Given the description of an element on the screen output the (x, y) to click on. 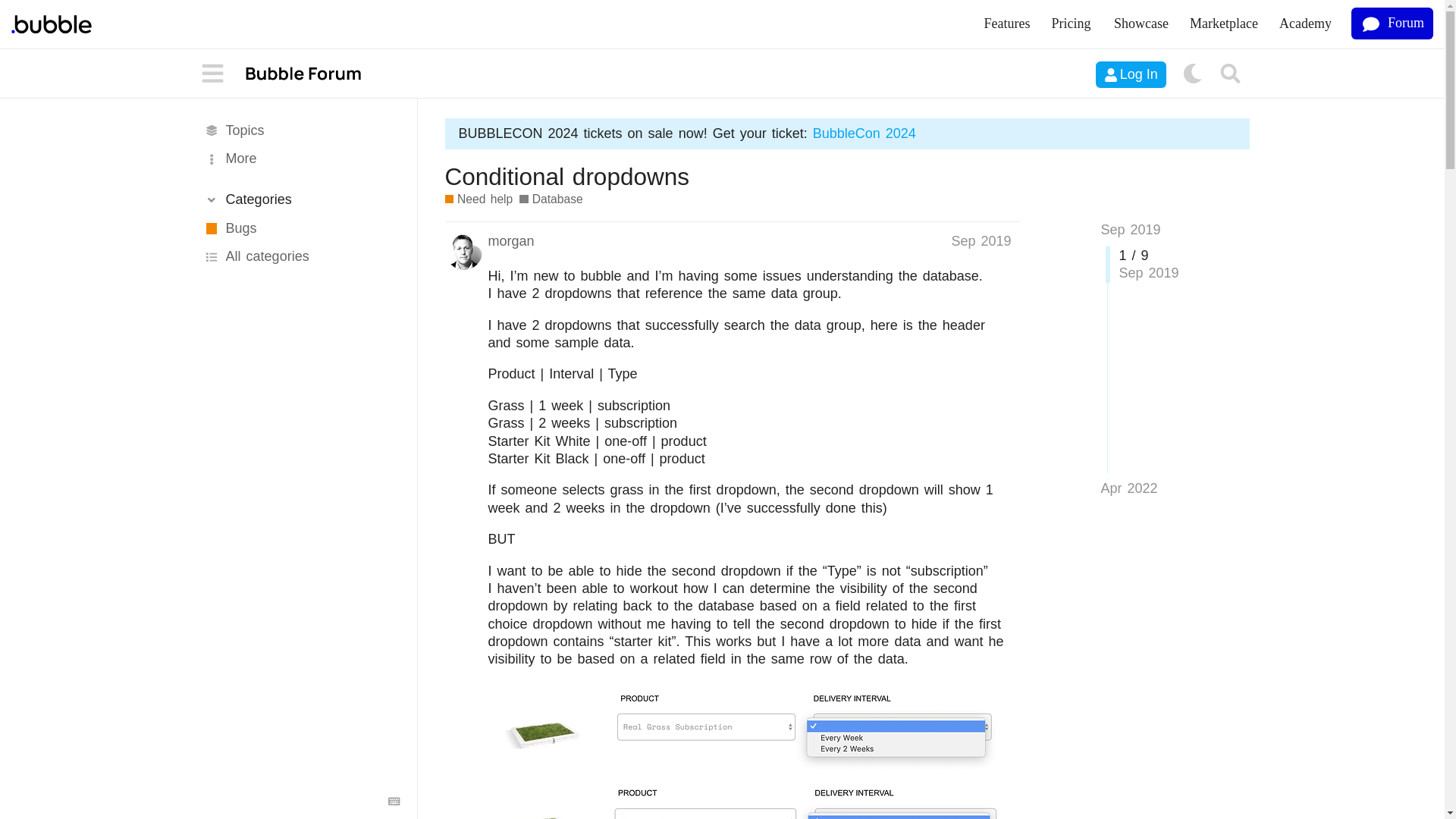
Toggle color scheme (1192, 73)
Sep 2019 (1130, 229)
Database (550, 199)
Keyboard Shortcuts (394, 801)
Features (1007, 24)
Search (1230, 73)
26 (749, 729)
Jump to the last post (1128, 488)
All categories (300, 256)
Sep 2019 (980, 240)
